Given the description of an element on the screen output the (x, y) to click on. 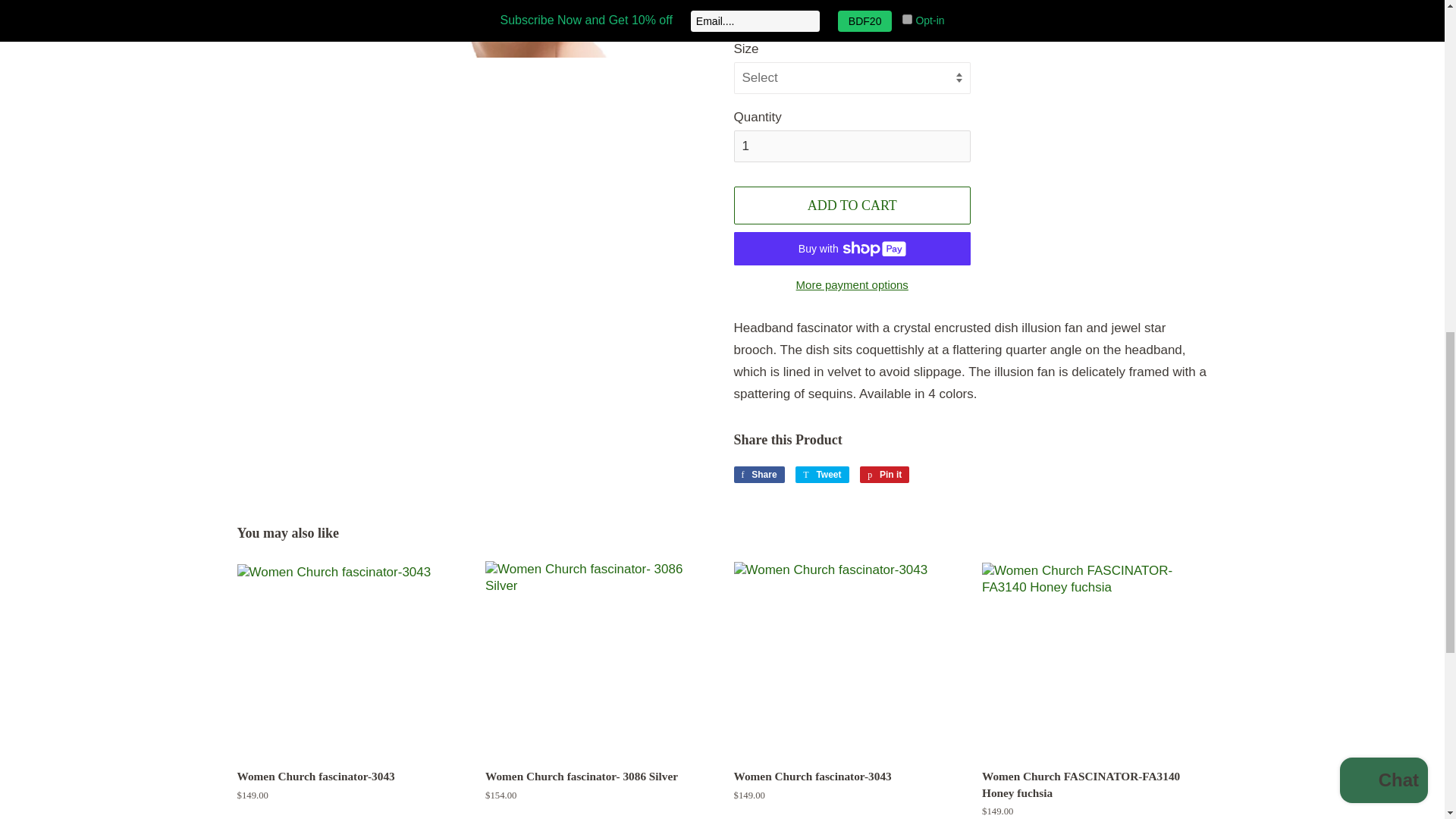
Pin on Pinterest (884, 474)
Tweet on Twitter (821, 474)
1 (852, 146)
Share on Facebook (758, 474)
